Given the description of an element on the screen output the (x, y) to click on. 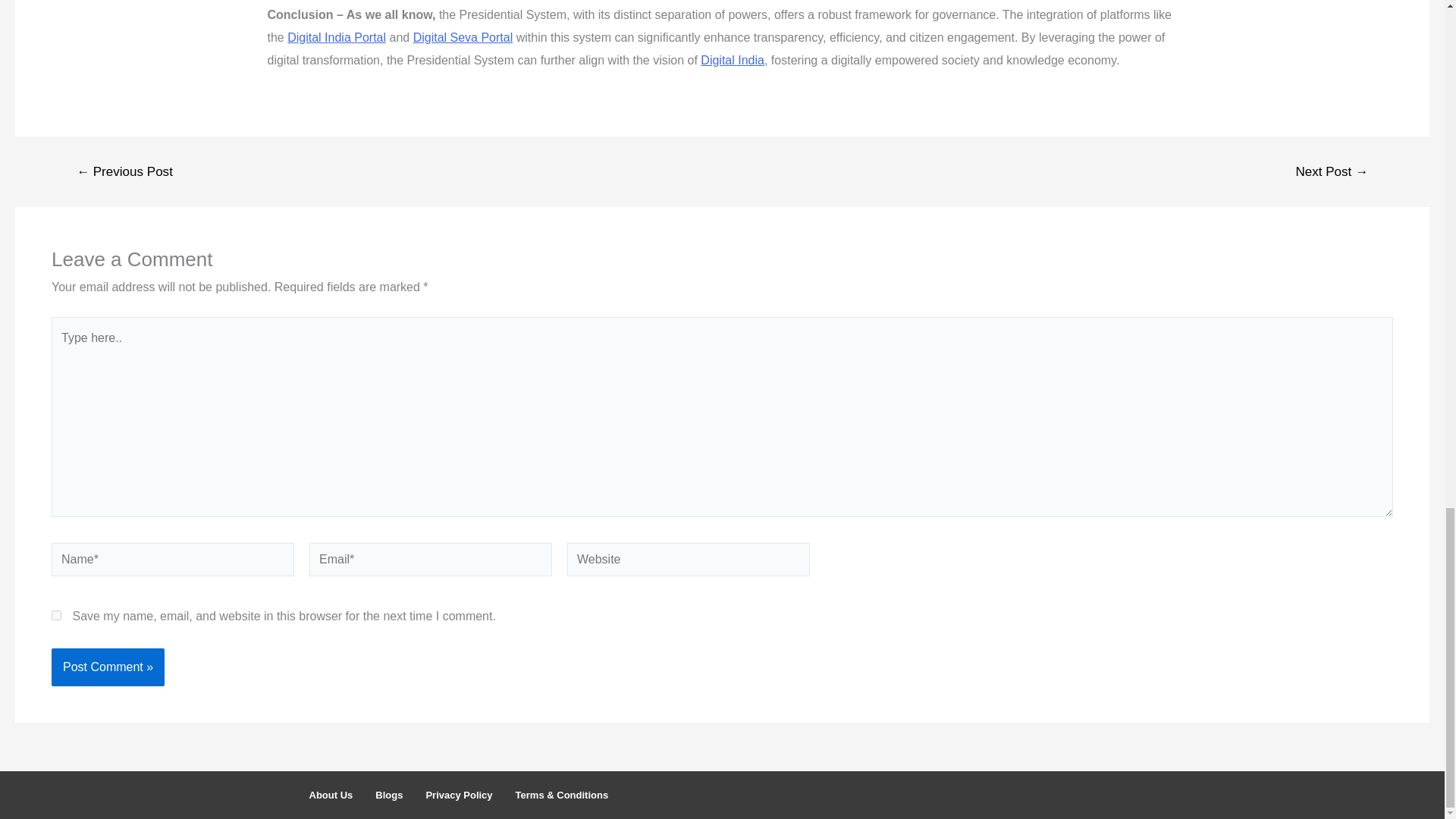
Digital India (732, 60)
Blogs (388, 794)
Digital India Portal (335, 37)
Privacy Policy (458, 794)
Digital Seva Portal (463, 37)
yes (55, 614)
About Us (330, 794)
